Given the description of an element on the screen output the (x, y) to click on. 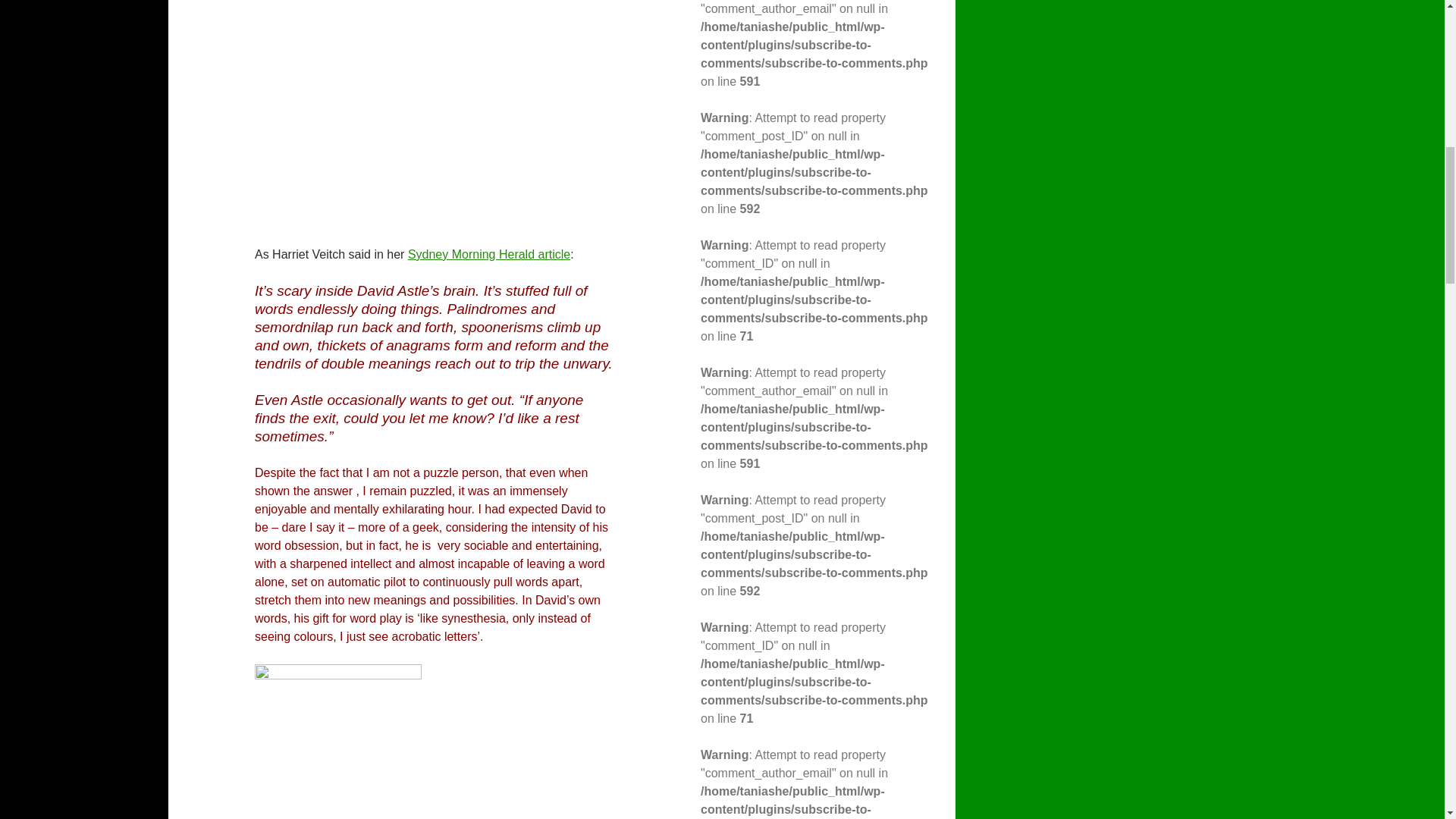
Sydney Morning Herald article (488, 254)
